Given the description of an element on the screen output the (x, y) to click on. 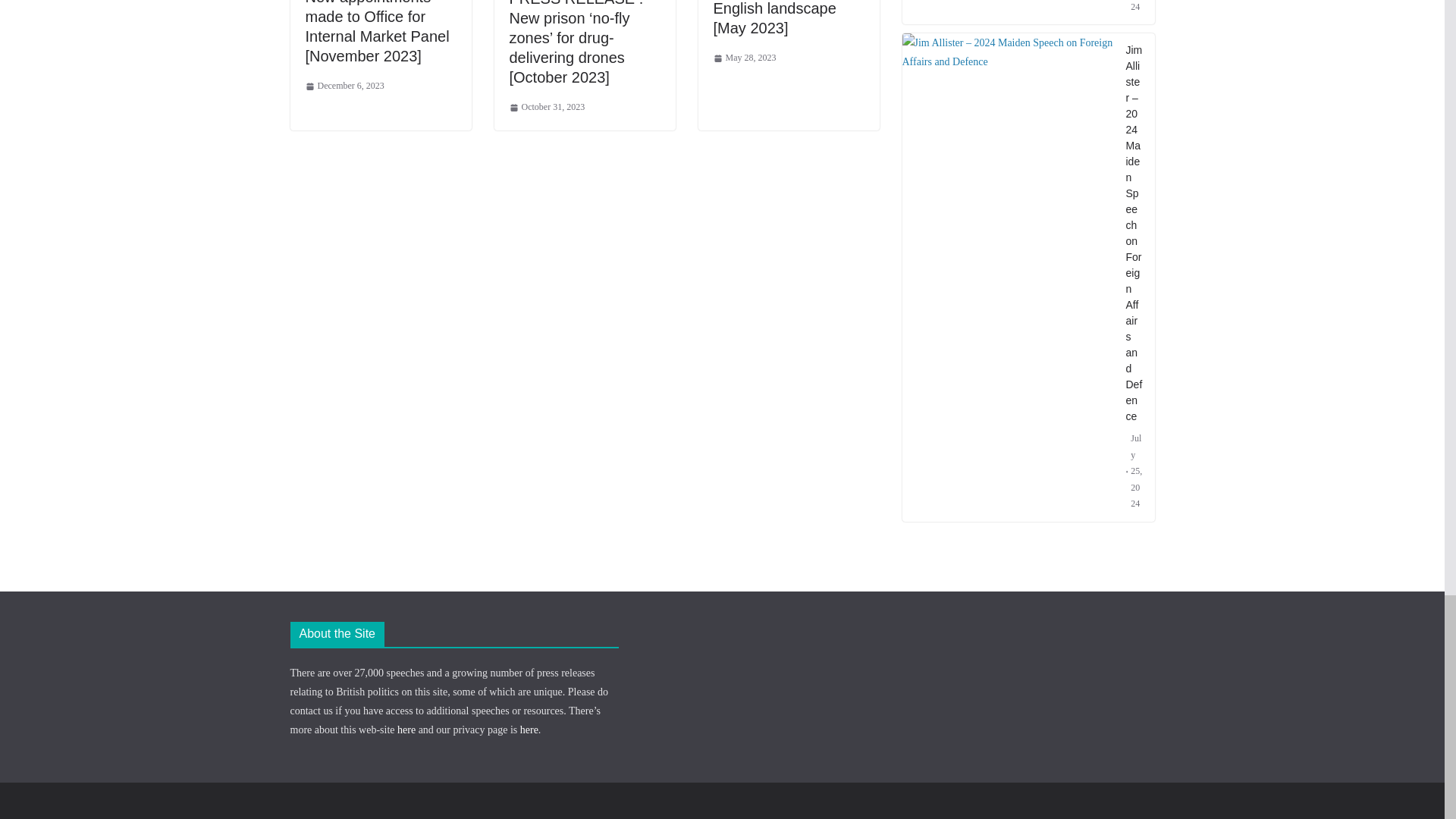
December 6, 2023 (344, 86)
10:59 am (344, 86)
